Given the description of an element on the screen output the (x, y) to click on. 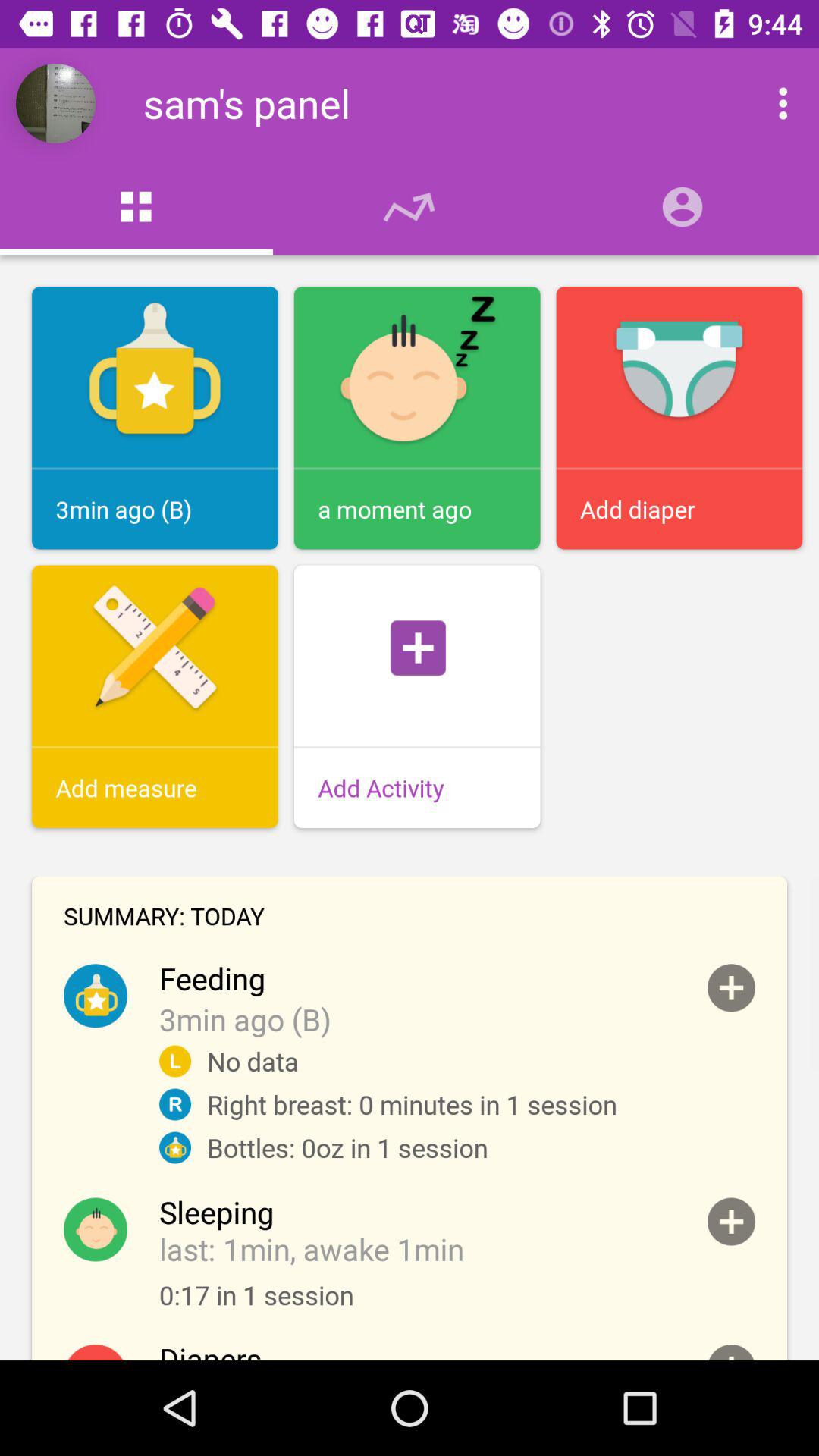
open profile (731, 987)
